Given the description of an element on the screen output the (x, y) to click on. 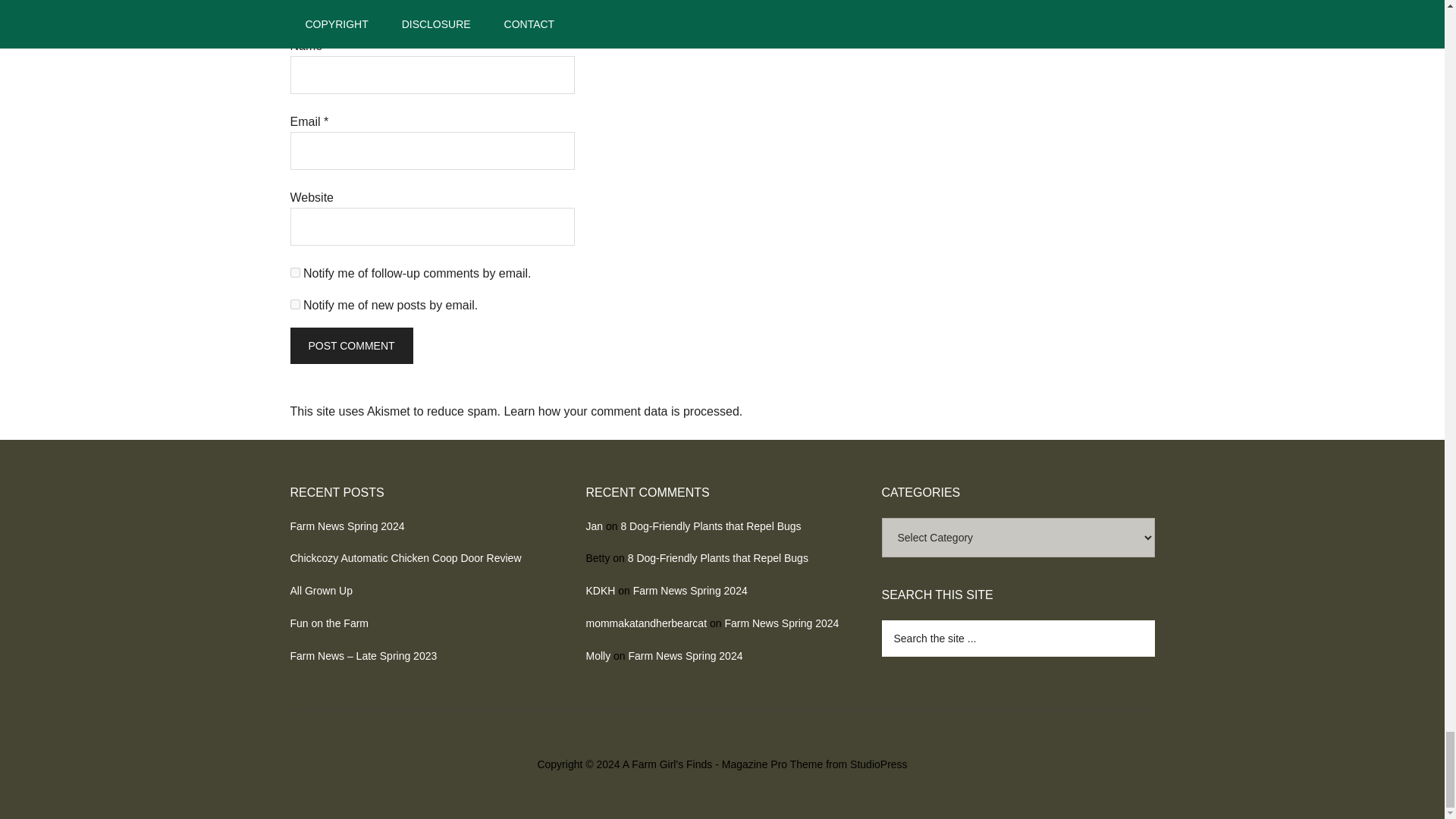
subscribe (294, 272)
Post Comment (350, 345)
subscribe (294, 304)
